Given the description of an element on the screen output the (x, y) to click on. 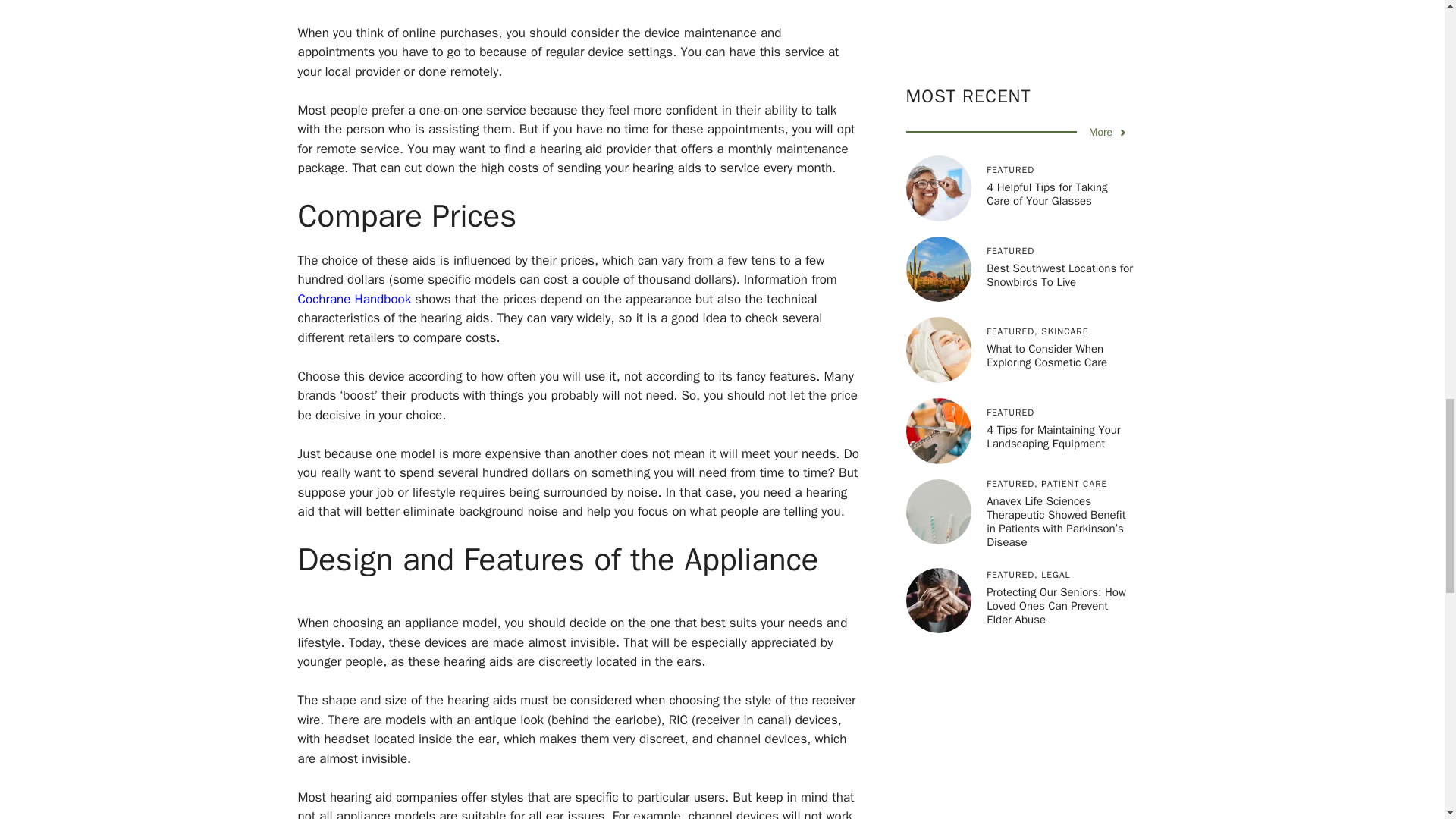
Cochrane Handbook (353, 299)
